Given the description of an element on the screen output the (x, y) to click on. 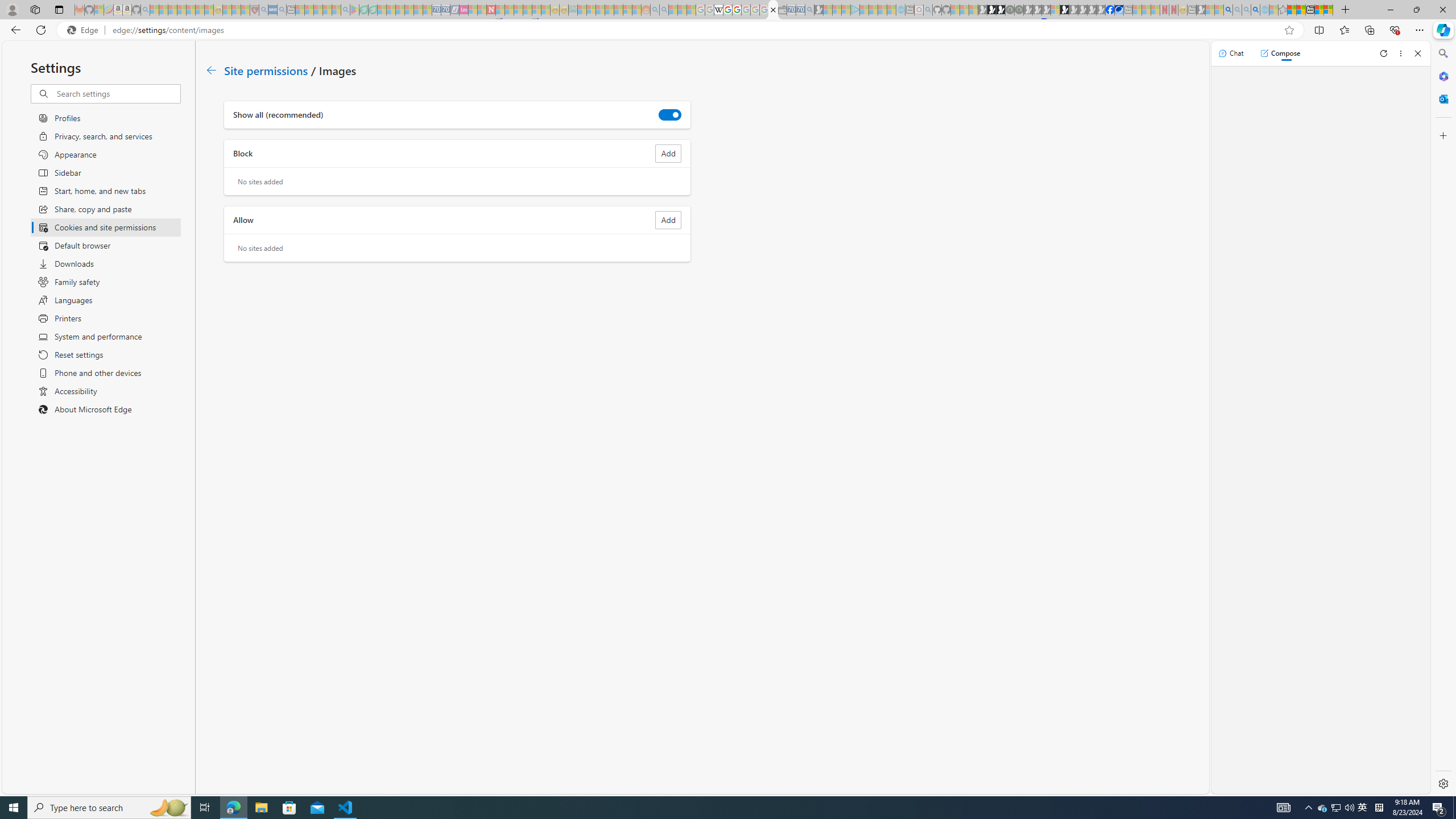
Edge (84, 29)
Search settings (117, 93)
